Given the description of an element on the screen output the (x, y) to click on. 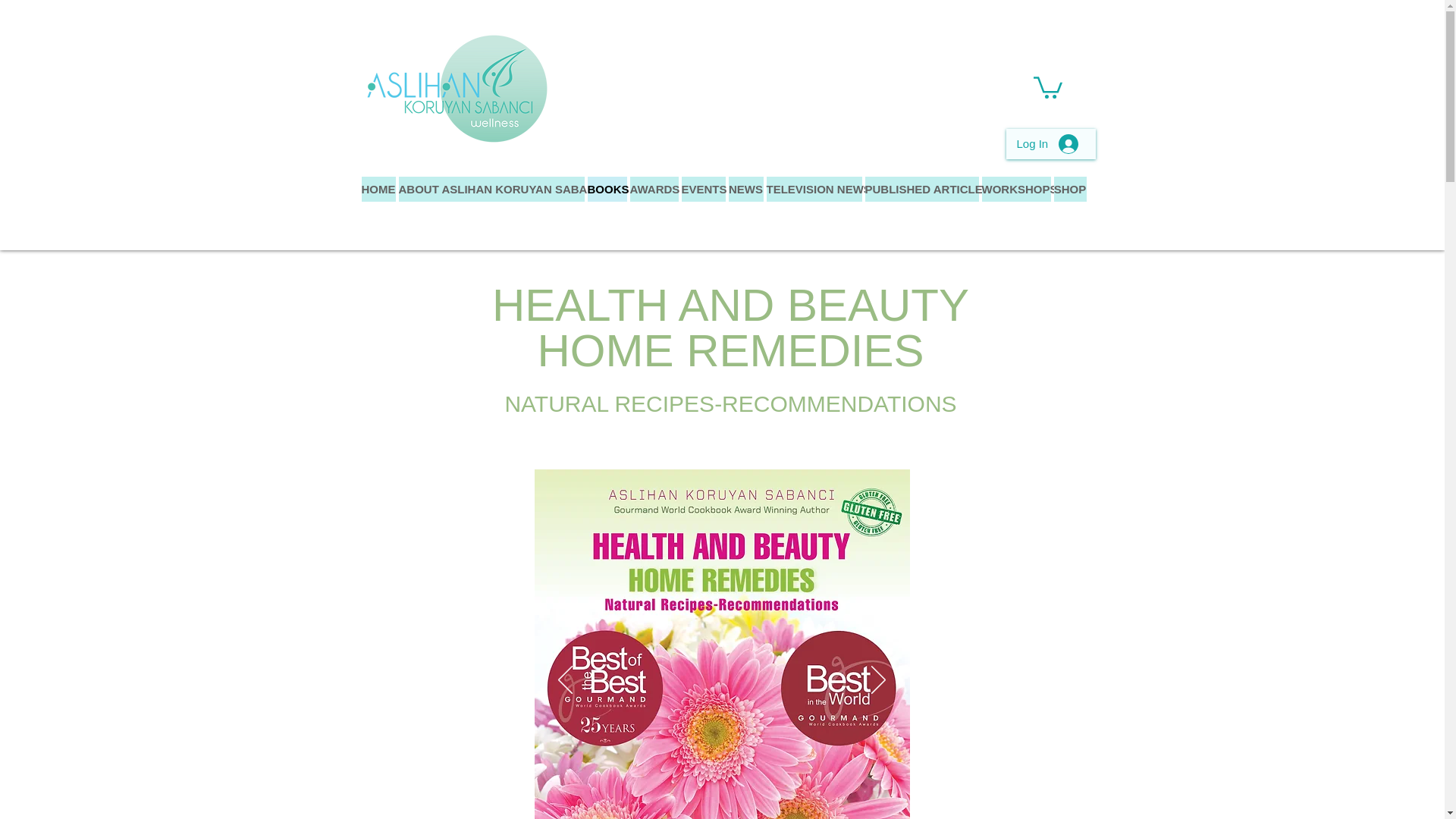
HOME (377, 188)
NEWS (745, 188)
BOOKS (606, 188)
Log In (1047, 143)
EVENTS (703, 188)
AWARDS (653, 188)
ABOUT ASLIHAN KORUYAN SABANCI (491, 188)
